Given the description of an element on the screen output the (x, y) to click on. 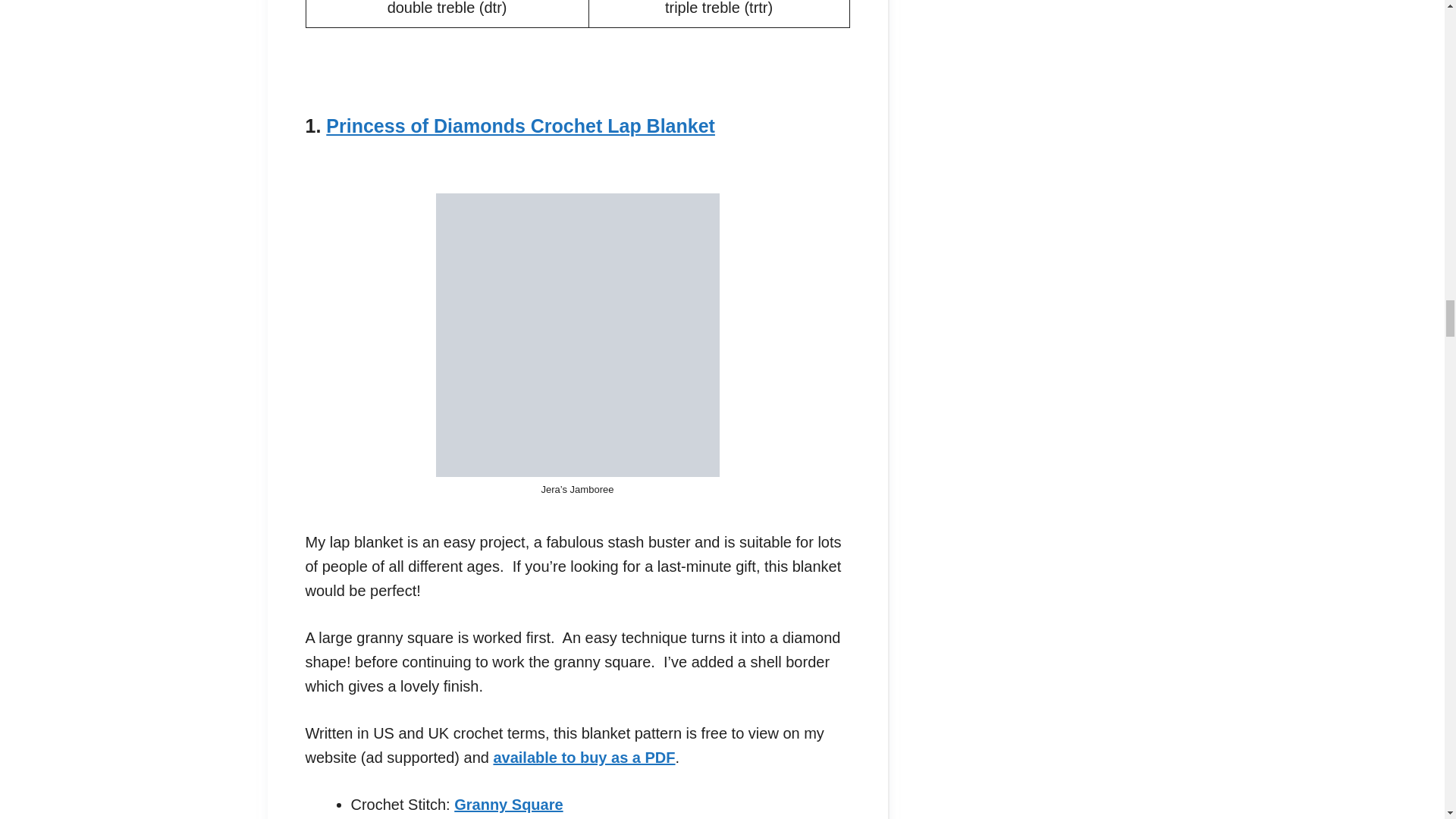
available to buy as a PDF (584, 757)
Princess of Diamonds Crochet Lap Blanket (520, 125)
Granny Square (508, 804)
